Given the description of an element on the screen output the (x, y) to click on. 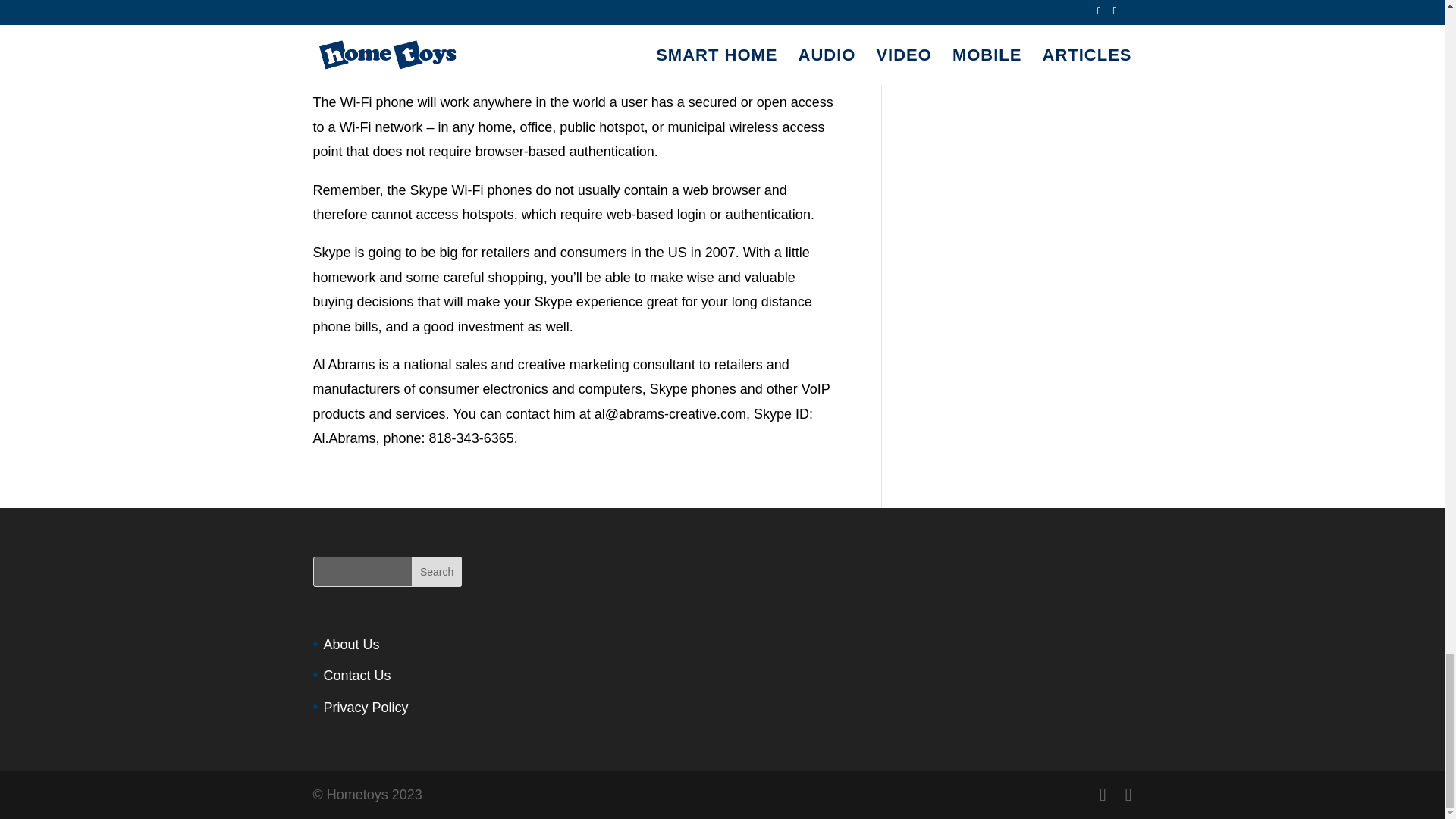
Privacy Policy (365, 707)
About Us (350, 644)
Contact Us (356, 675)
Search (436, 571)
